Given the description of an element on the screen output the (x, y) to click on. 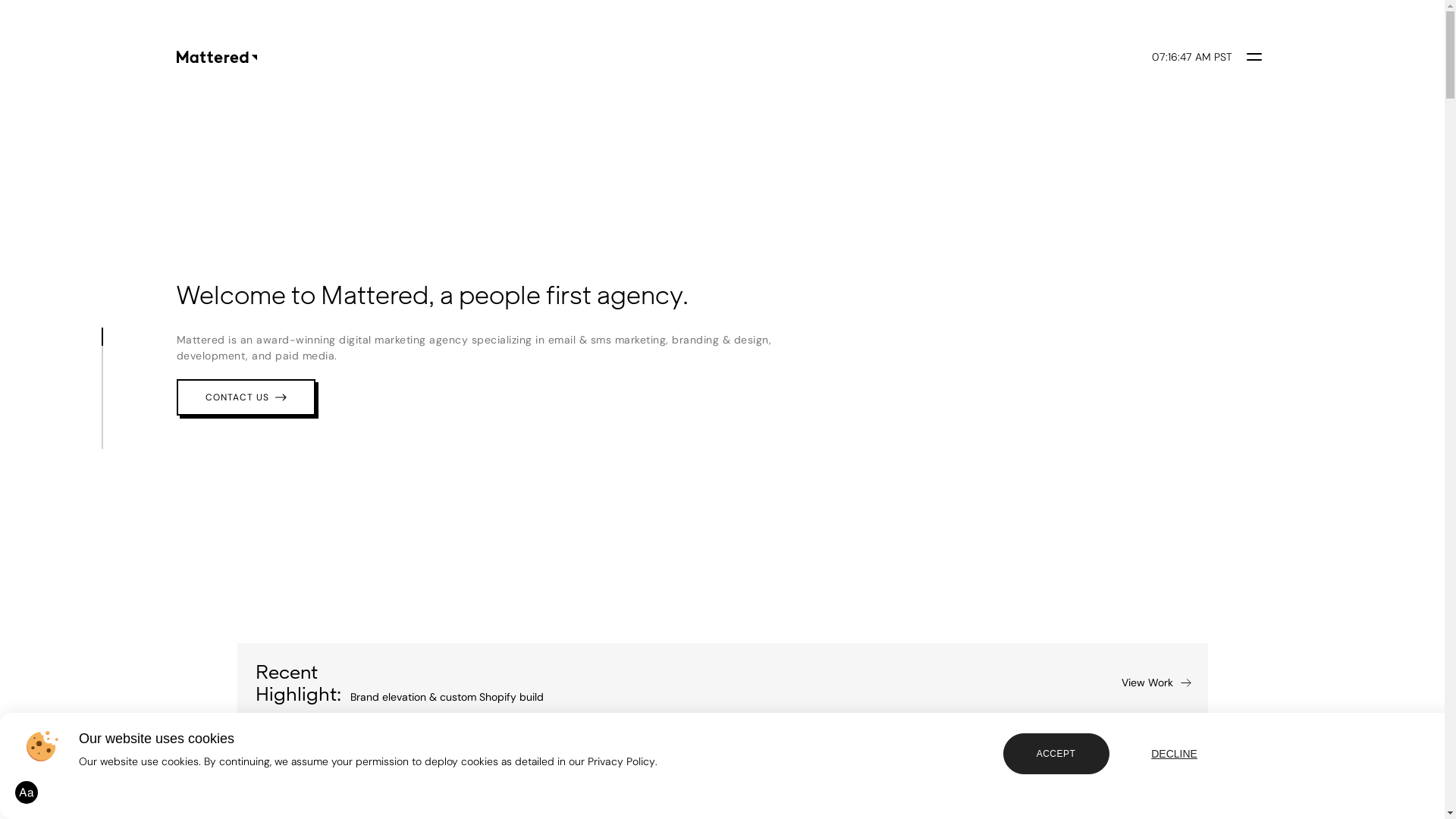
DECLINE Element type: text (1174, 753)
ACCEPT Element type: text (1056, 753)
CONTACT US Element type: text (244, 397)
View Work Element type: text (1154, 682)
Privacy Policy Element type: text (621, 761)
